Given the description of an element on the screen output the (x, y) to click on. 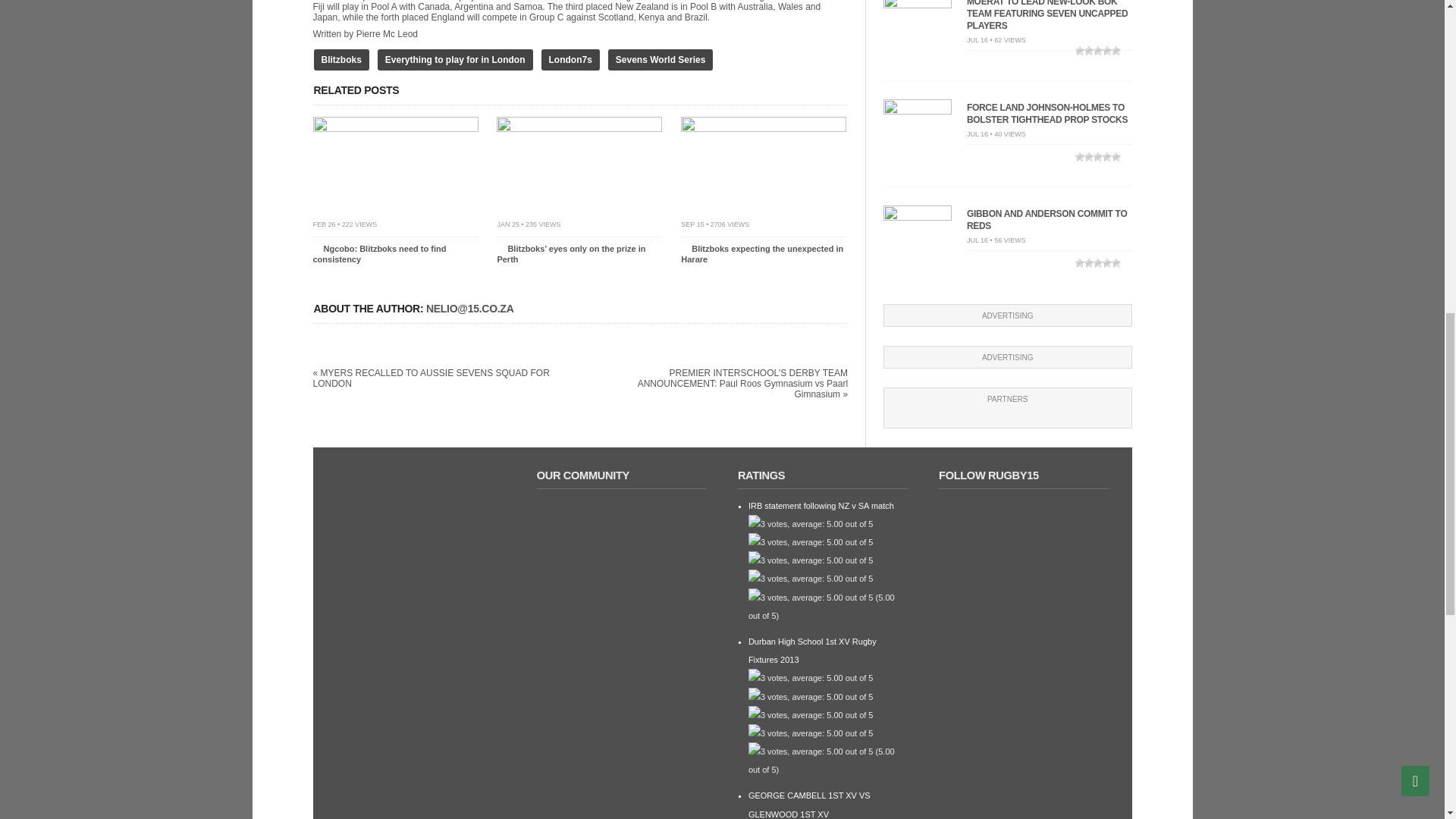
Blitzboks expecting the unexpected in Harare (763, 128)
Ngcobo: Blitzboks need to find consistency (379, 253)
Blitzboks expecting the unexpected in Harare (762, 253)
Ngcobo: Blitzboks need to find consistency (395, 128)
